Given the description of an element on the screen output the (x, y) to click on. 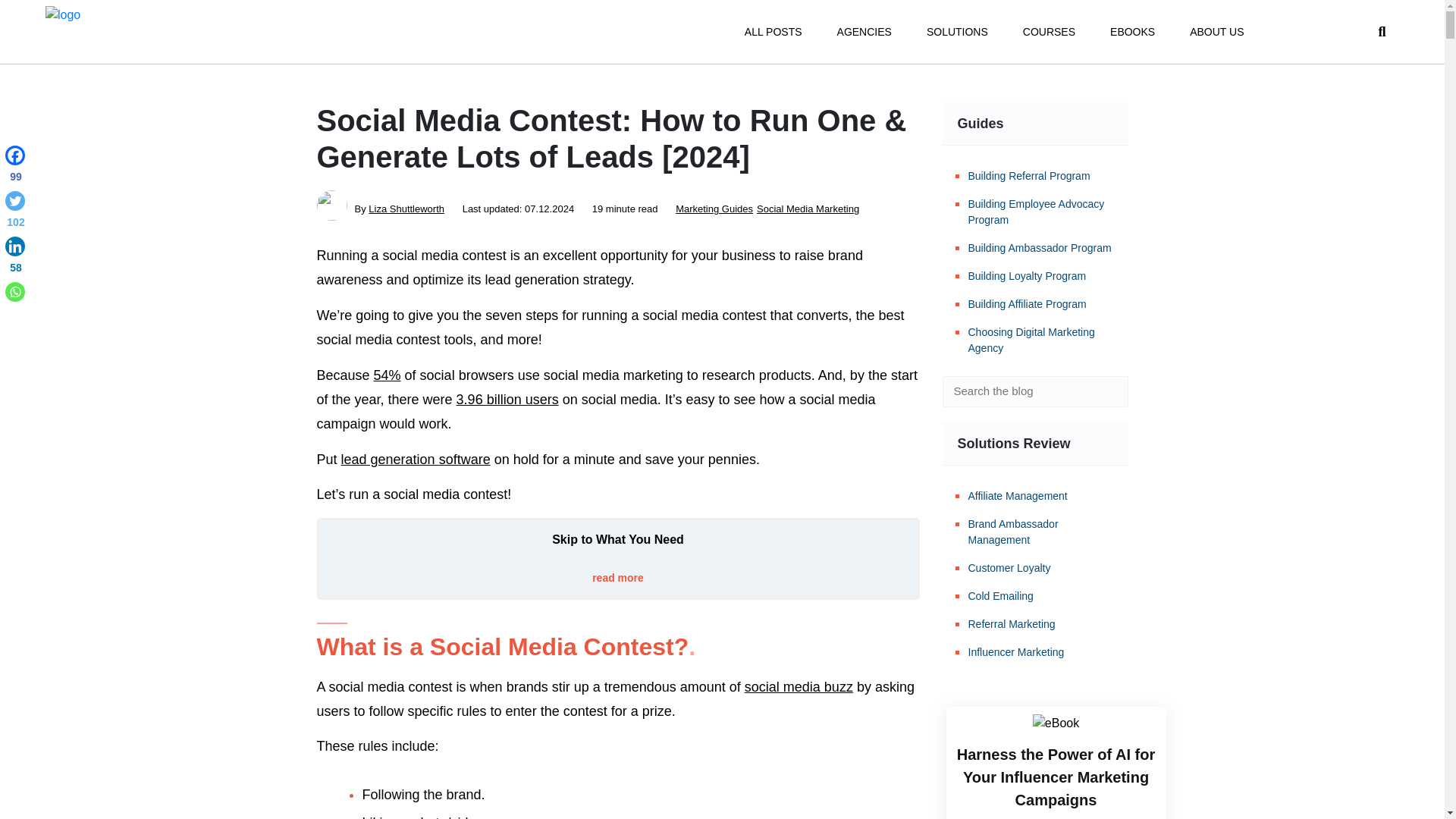
ALL POSTS (772, 31)
Facebook (14, 166)
Linkedin (14, 257)
Twitter (14, 211)
Search (1105, 391)
Search (1105, 391)
SOLUTIONS (957, 31)
Whatsapp (14, 291)
AGENCIES (864, 31)
